Given the description of an element on the screen output the (x, y) to click on. 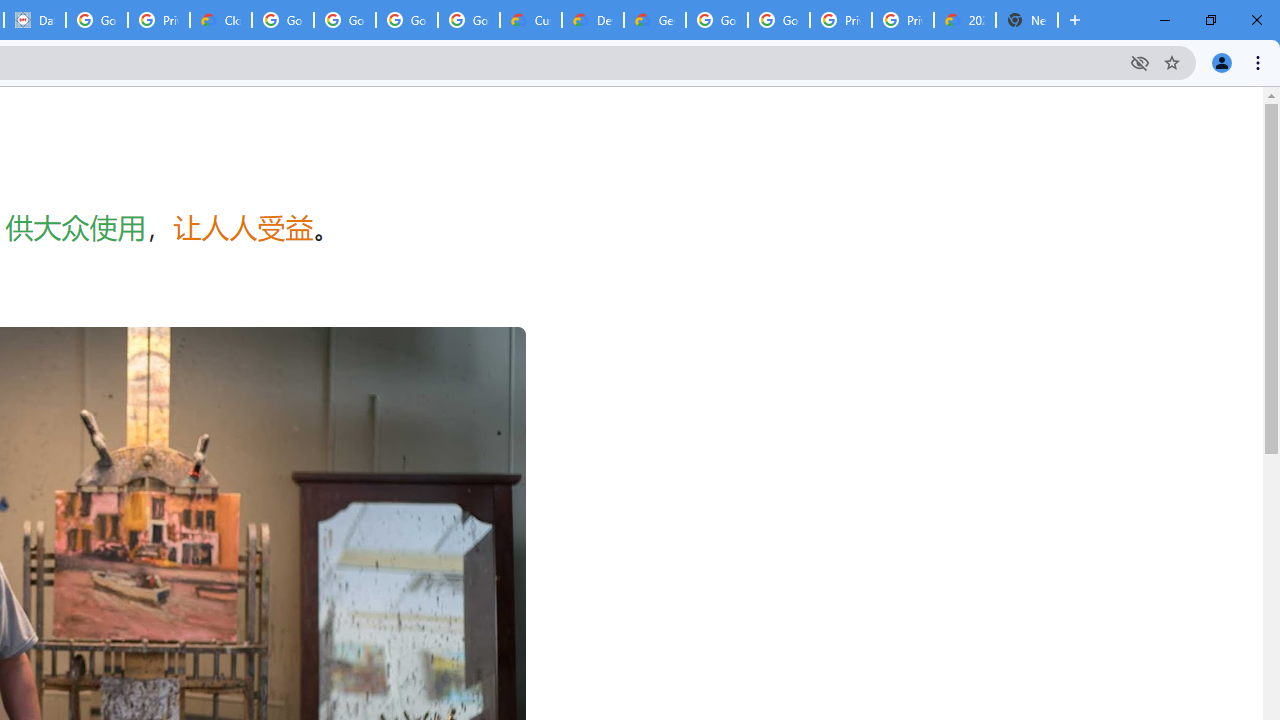
New Tab (1026, 20)
Cloud Data Processing Addendum | Google Cloud (220, 20)
Google Workspace - Specific Terms (406, 20)
Google Workspace - Specific Terms (468, 20)
